Given the description of an element on the screen output the (x, y) to click on. 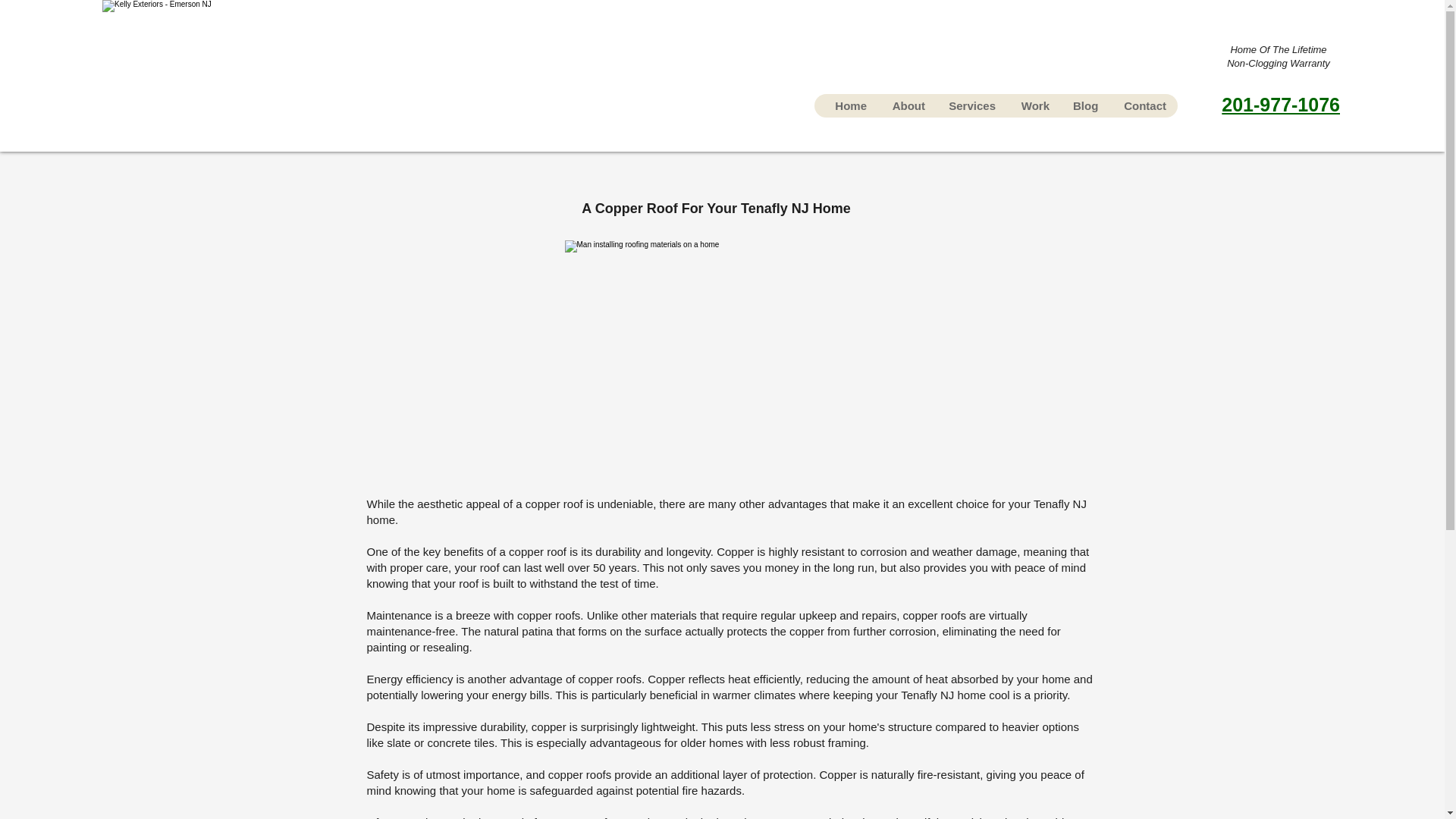
Work (1034, 105)
Contact (1142, 105)
Services (971, 105)
201-977-1076 (1280, 104)
Blog (1084, 105)
Home (849, 105)
About (906, 105)
